Given the description of an element on the screen output the (x, y) to click on. 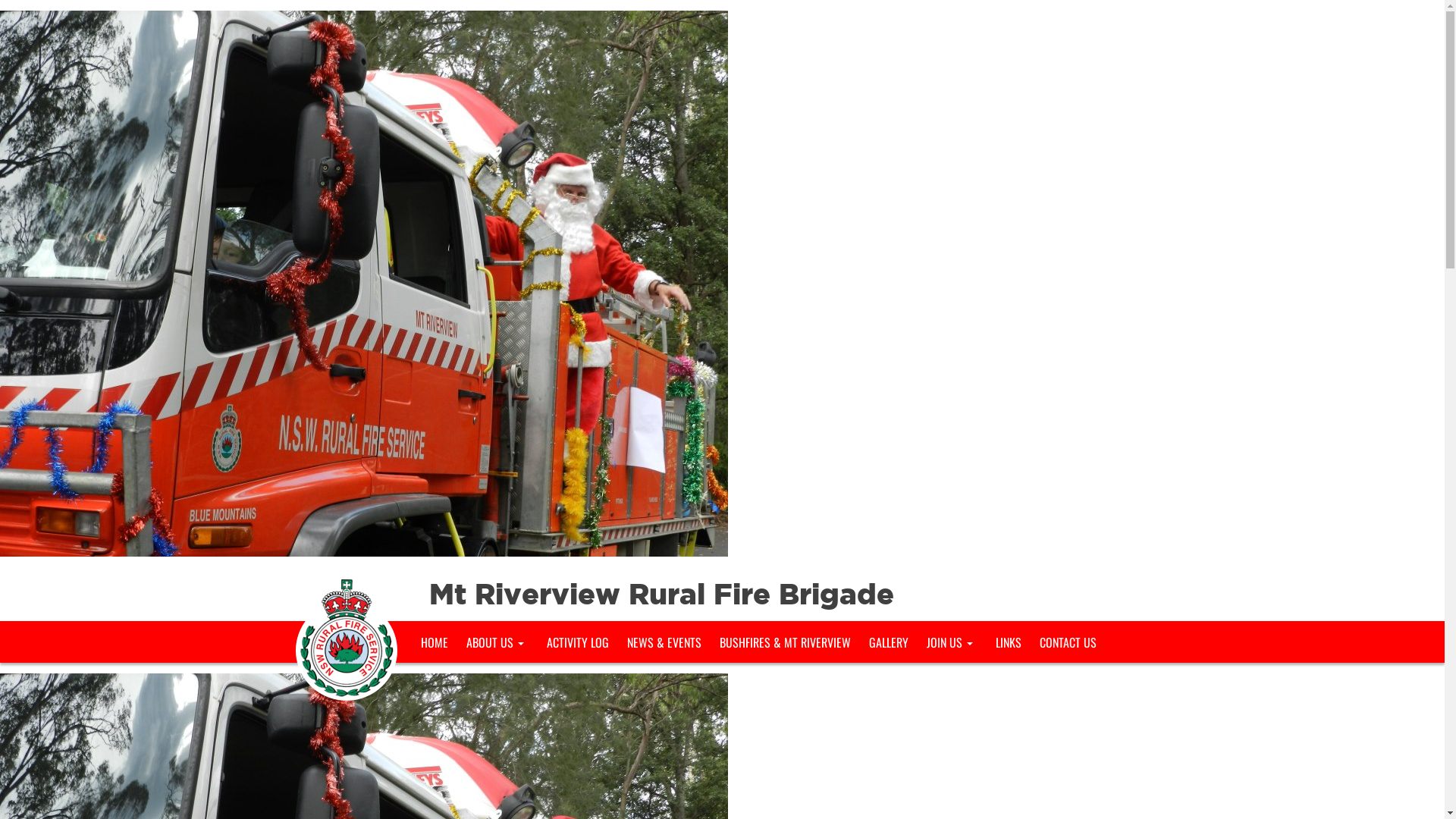
JOIN US Element type: text (951, 641)
ACTIVITY LOG Element type: text (577, 641)
HOME Element type: text (433, 641)
GALLERY Element type: text (888, 641)
ABOUT US Element type: text (496, 641)
LINKS Element type: text (1007, 641)
NEWS & EVENTS Element type: text (663, 641)
CONTACT US Element type: text (1066, 641)
BUSHFIRES & MT RIVERVIEW Element type: text (784, 641)
